Given the description of an element on the screen output the (x, y) to click on. 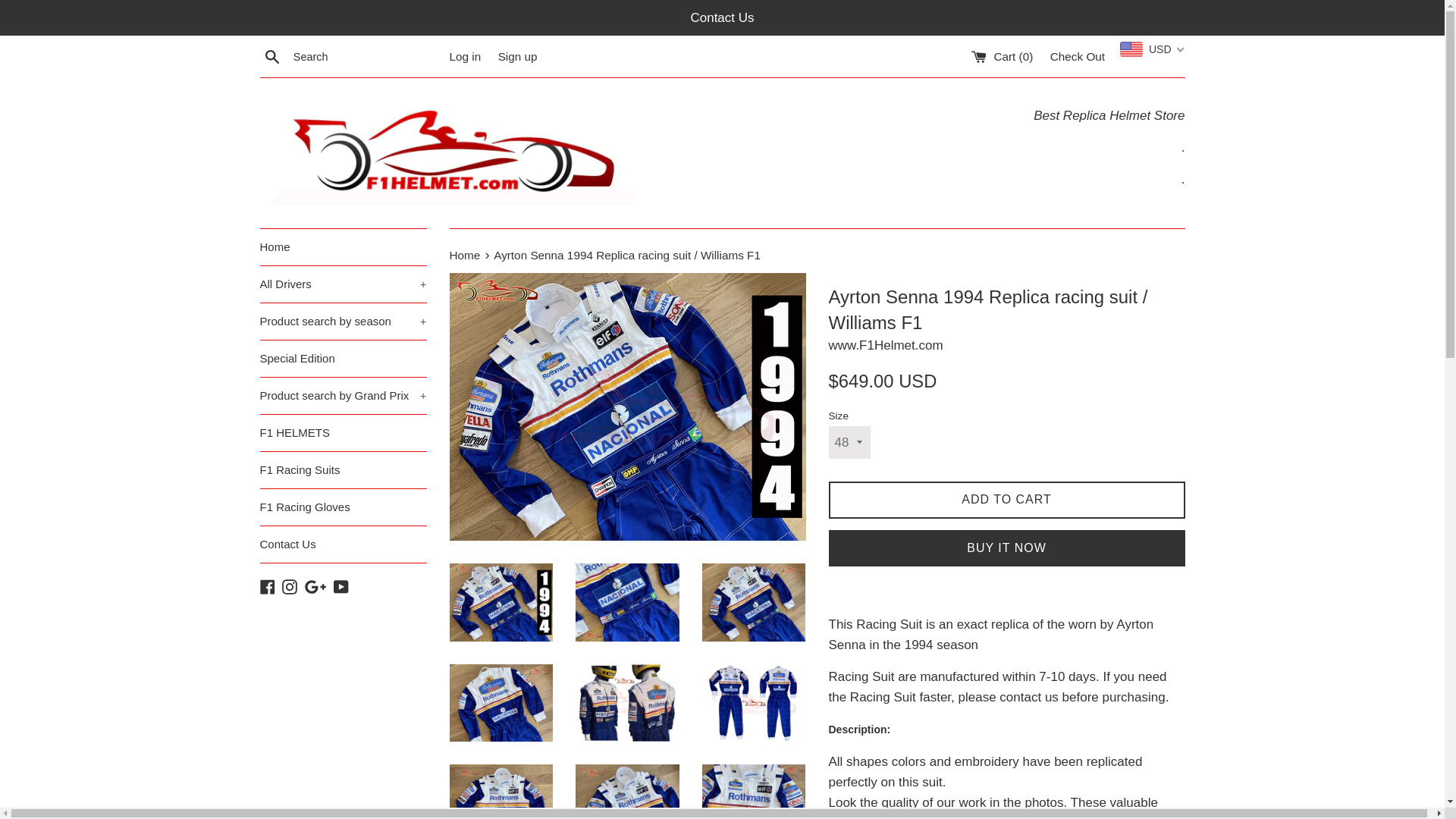
Home (342, 247)
Check Out (1077, 56)
Back to the frontpage (465, 254)
F1Helmet on YouTube (341, 586)
Contact Us (725, 18)
Search (271, 56)
Log in (464, 56)
Sign up (517, 56)
F1Helmet on Google Plus (315, 586)
F1Helmet on Instagram (289, 586)
F1Helmet on Facebook (267, 586)
